Given the description of an element on the screen output the (x, y) to click on. 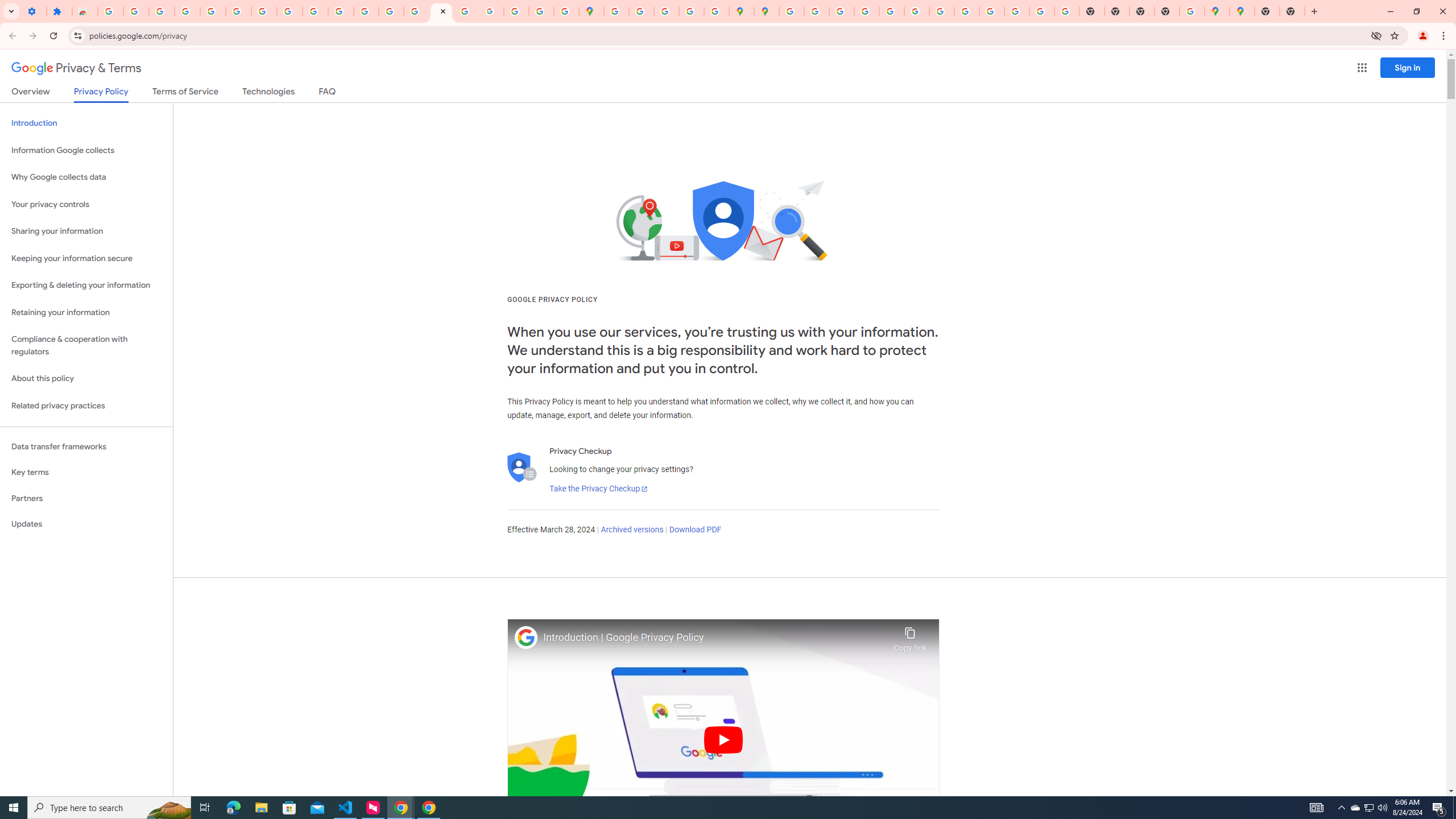
New Tab (1292, 11)
Use Google Maps in Space - Google Maps Help (1191, 11)
Related privacy practices (86, 405)
Your privacy controls (86, 204)
Privacy Policy (100, 94)
https://scholar.google.com/ (340, 11)
Privacy Help Center - Policies Help (391, 11)
New Tab (1266, 11)
